Given the description of an element on the screen output the (x, y) to click on. 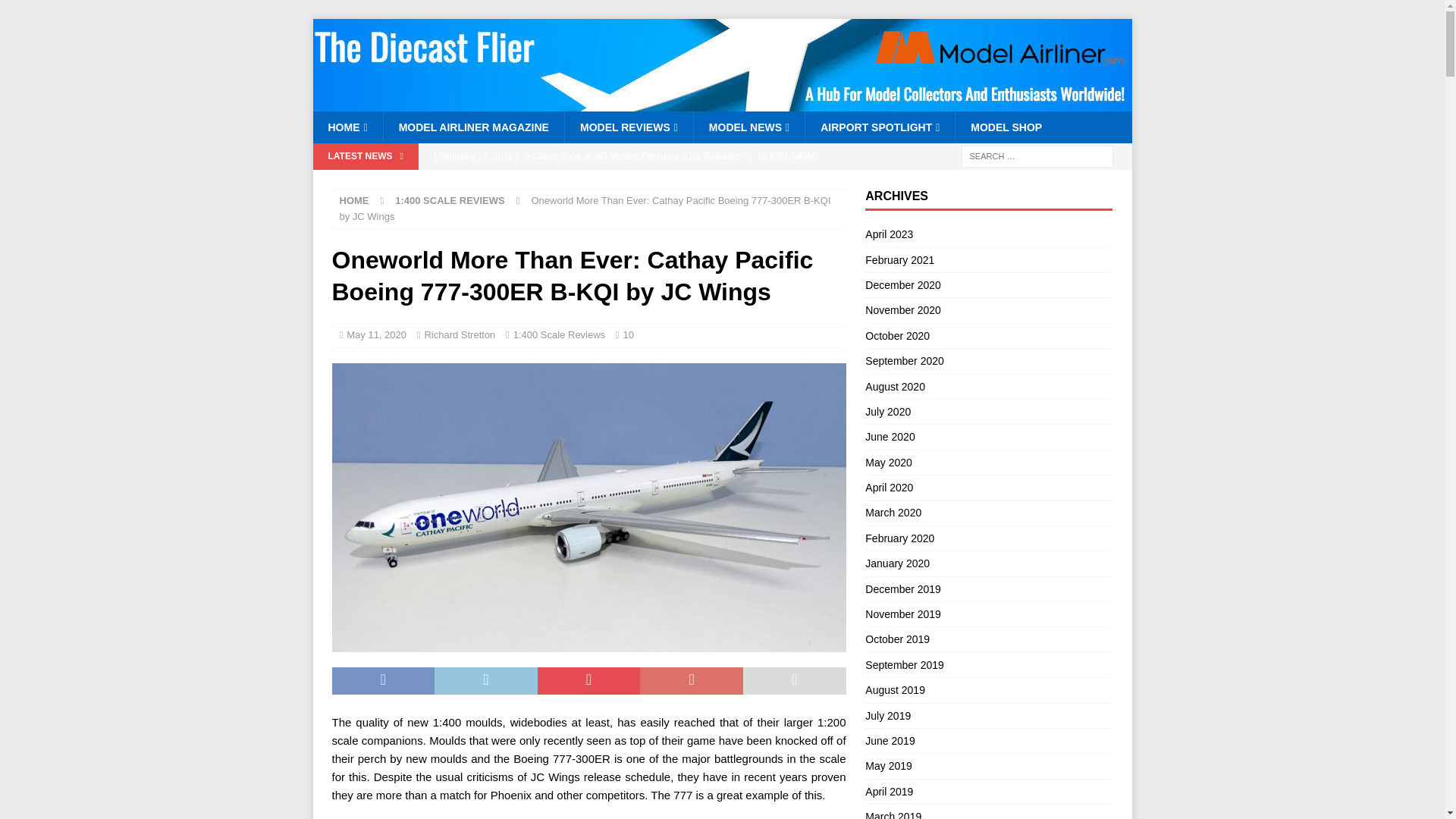
Model Airliner Magazine (722, 102)
GeminiJets February 2021 Release Announcement (634, 181)
MODEL NEWS (749, 127)
A Closer Look at NG Models February 2021 Releases (634, 155)
HOME (347, 127)
10 (628, 334)
MODEL AIRLINER MAGAZINE (473, 127)
AIRPORT SPOTLIGHT (880, 127)
MODEL REVIEWS (628, 127)
